Given the description of an element on the screen output the (x, y) to click on. 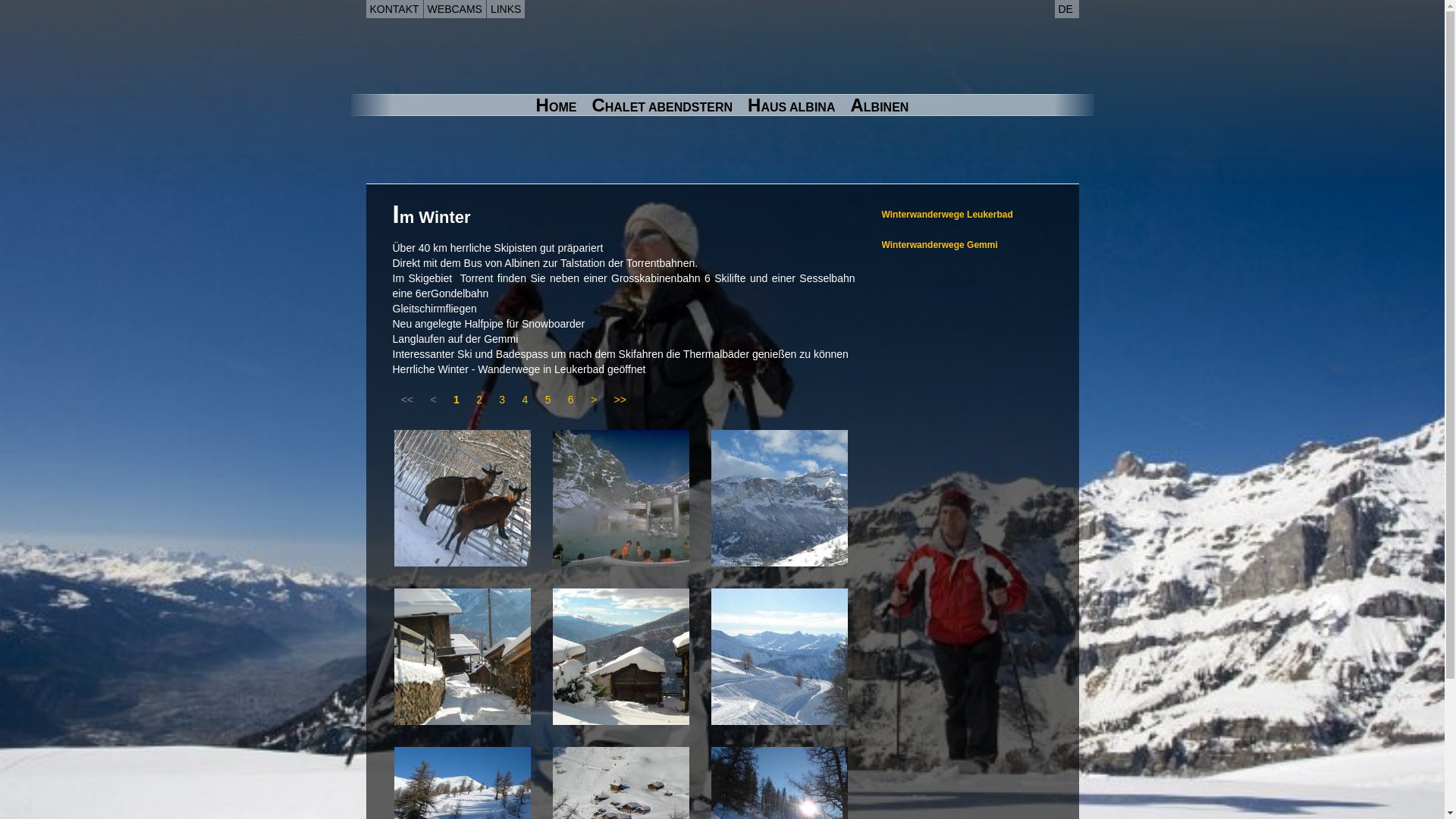
3 Element type: text (501, 399)
<< Element type: text (407, 399)
LINKS Element type: text (505, 9)
KONTAKT Element type: text (393, 9)
Winterwanderwege Gemmi Element type: text (939, 244)
> Element type: text (593, 399)
WEBCAMS Element type: text (454, 9)
1 Element type: text (456, 399)
5 Element type: text (547, 399)
HOME Element type: text (556, 106)
Winterwanderwege Leukerbad Element type: text (946, 214)
>> Element type: text (619, 399)
CHALET ABENDSTERN Element type: text (661, 106)
HAUS ALBINA Element type: text (790, 106)
2 Element type: text (478, 399)
< Element type: text (433, 399)
ALBINEN Element type: text (879, 106)
4 Element type: text (524, 399)
6 Element type: text (570, 399)
DE Element type: text (1066, 9)
